Given the description of an element on the screen output the (x, y) to click on. 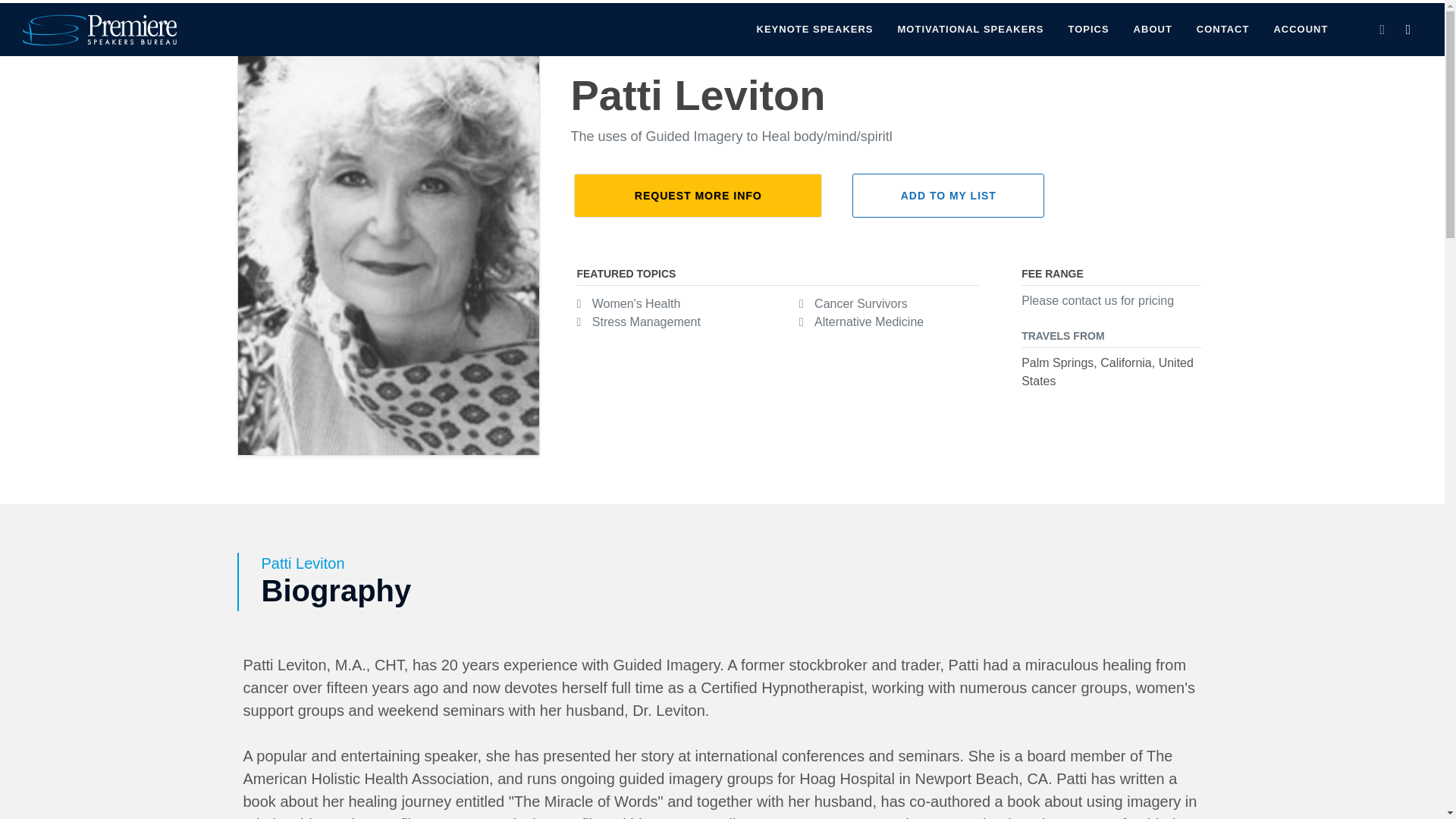
REQUEST MORE INFO (697, 195)
Keynotes (1313, 15)
KEYNOTE SPEAKERS (815, 29)
ACCOUNT (1300, 29)
Reviews (1382, 15)
Bio (1255, 15)
ADD TO MY LIST (947, 195)
CONTACT (1222, 29)
ABOUT (1152, 29)
MOTIVATIONAL SPEAKERS (970, 29)
Speakers Bureau (63, 12)
TOPICS (1088, 29)
Overview (1195, 15)
